Given the description of an element on the screen output the (x, y) to click on. 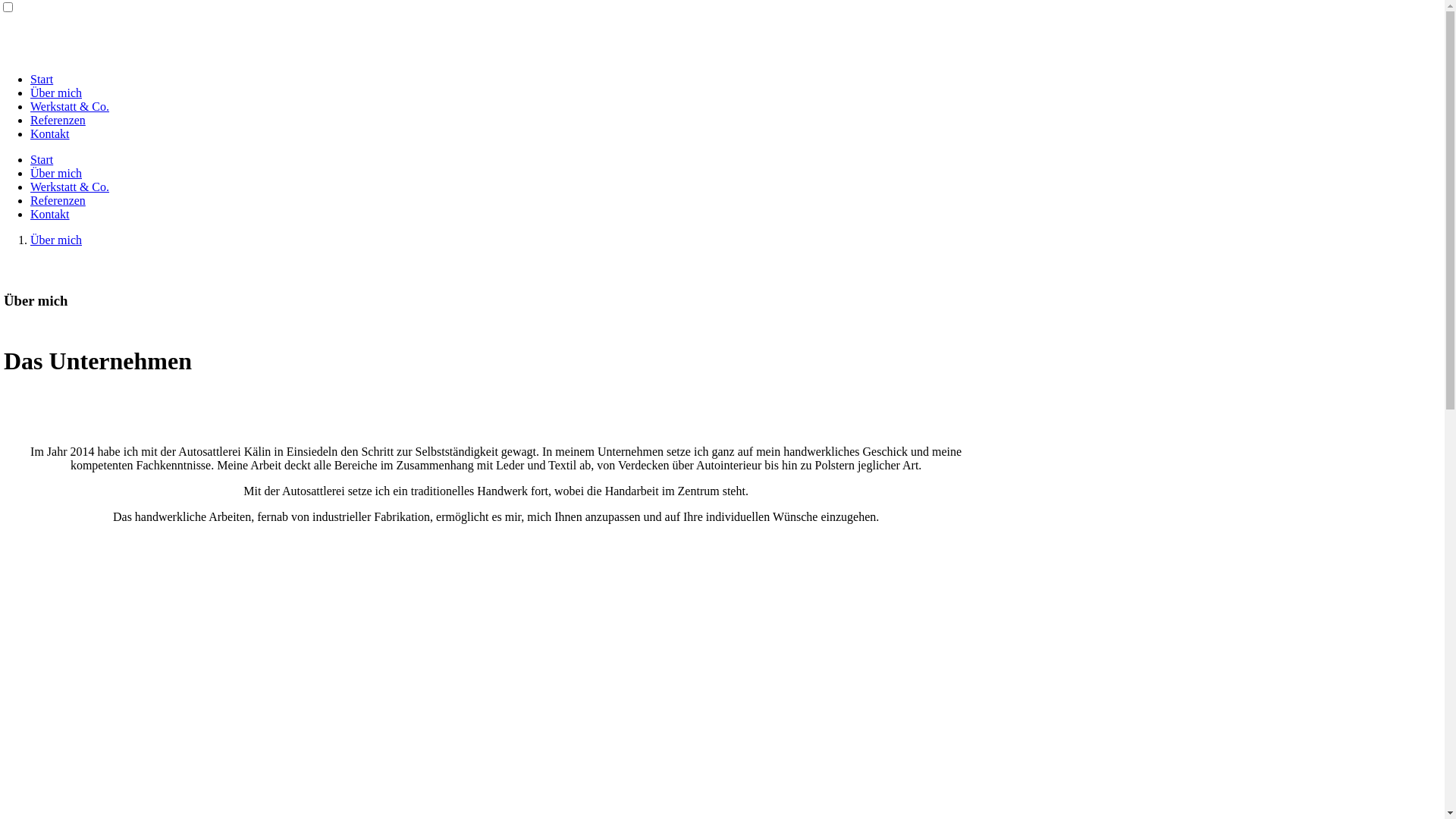
Werkstatt & Co. Element type: text (69, 106)
Referenzen Element type: text (57, 119)
Referenzen Element type: text (57, 200)
Kontakt Element type: text (49, 213)
Werkstatt & Co. Element type: text (69, 186)
Kontakt Element type: text (49, 133)
Start Element type: text (41, 78)
Start Element type: text (41, 159)
